Given the description of an element on the screen output the (x, y) to click on. 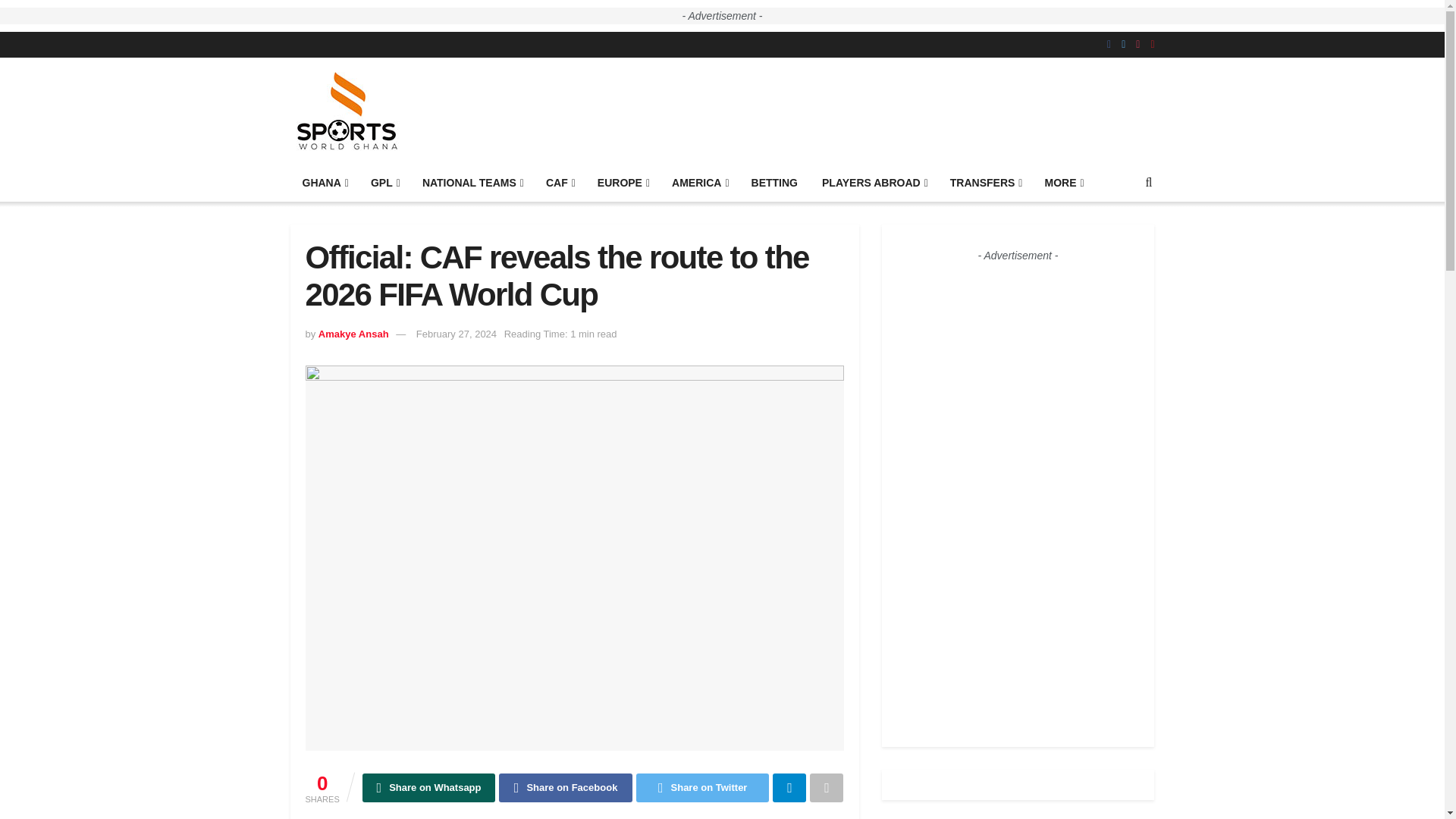
GPL (384, 182)
NATIONAL TEAMS (472, 182)
GHANA (323, 182)
